Given the description of an element on the screen output the (x, y) to click on. 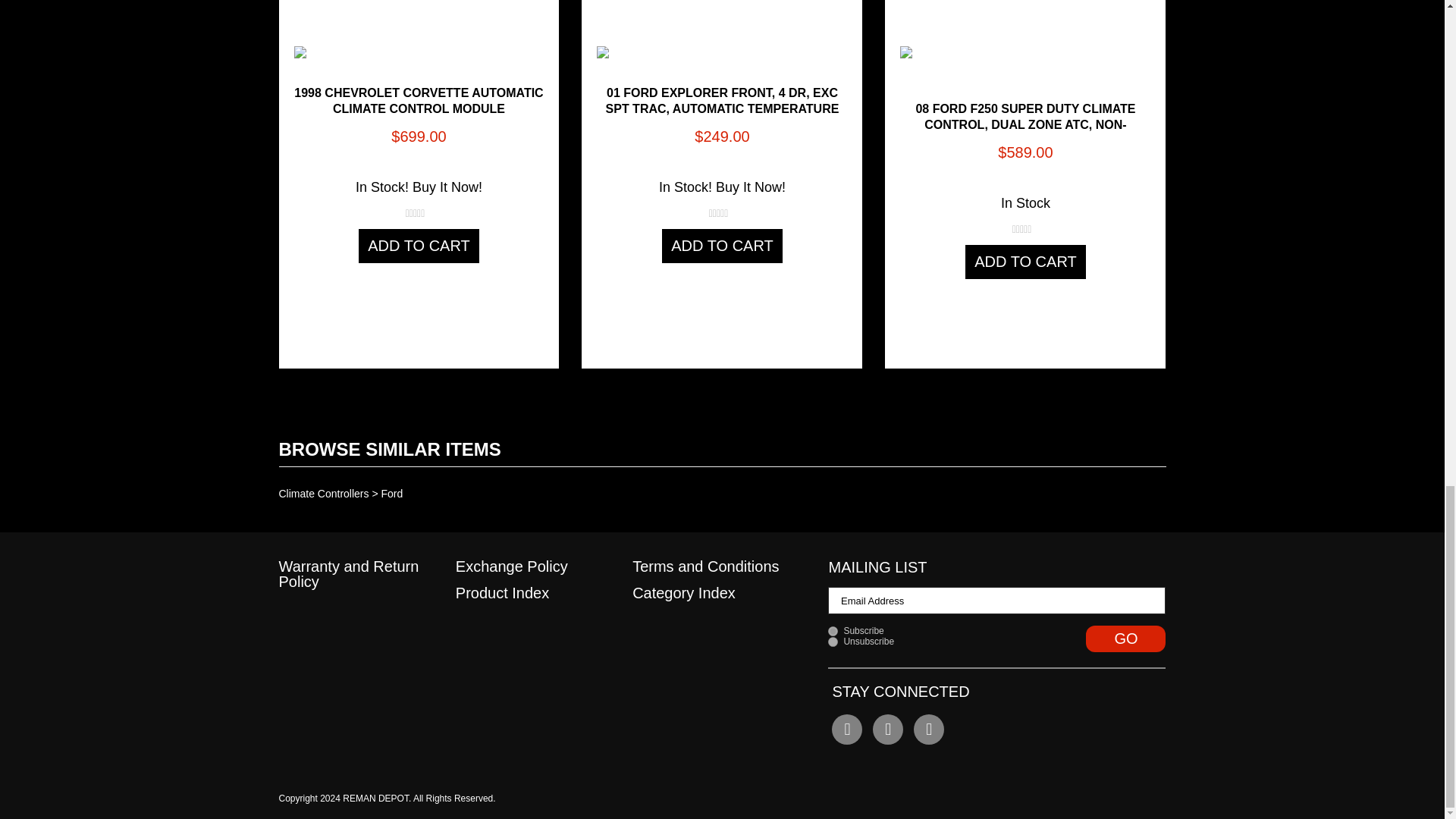
1 (833, 631)
Follow Us on Twitter (887, 729)
Like Us on Facebook (846, 729)
Follow Us on Instagram (928, 729)
0 (833, 642)
